Given the description of an element on the screen output the (x, y) to click on. 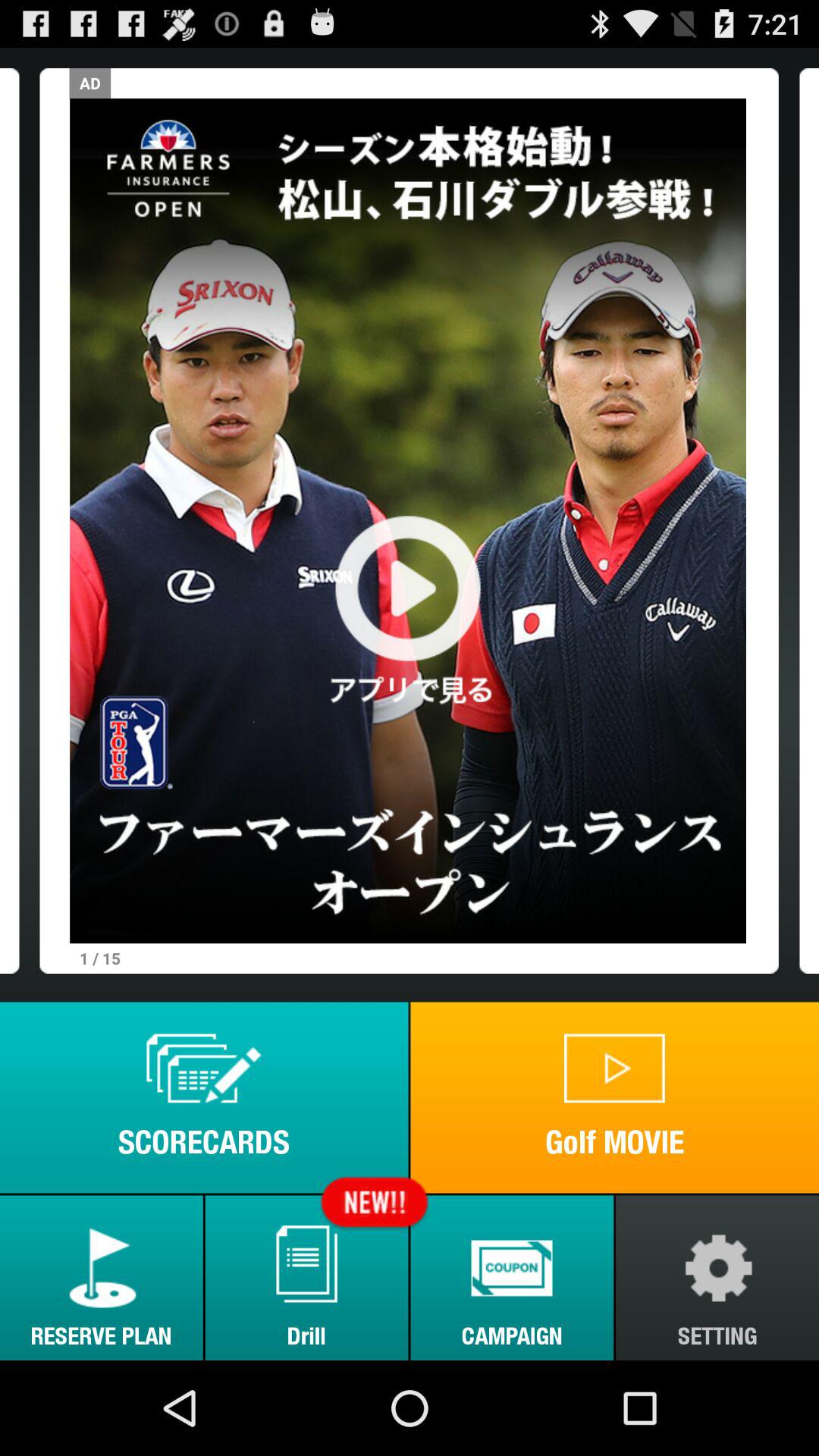
launch setting button (717, 1277)
